Given the description of an element on the screen output the (x, y) to click on. 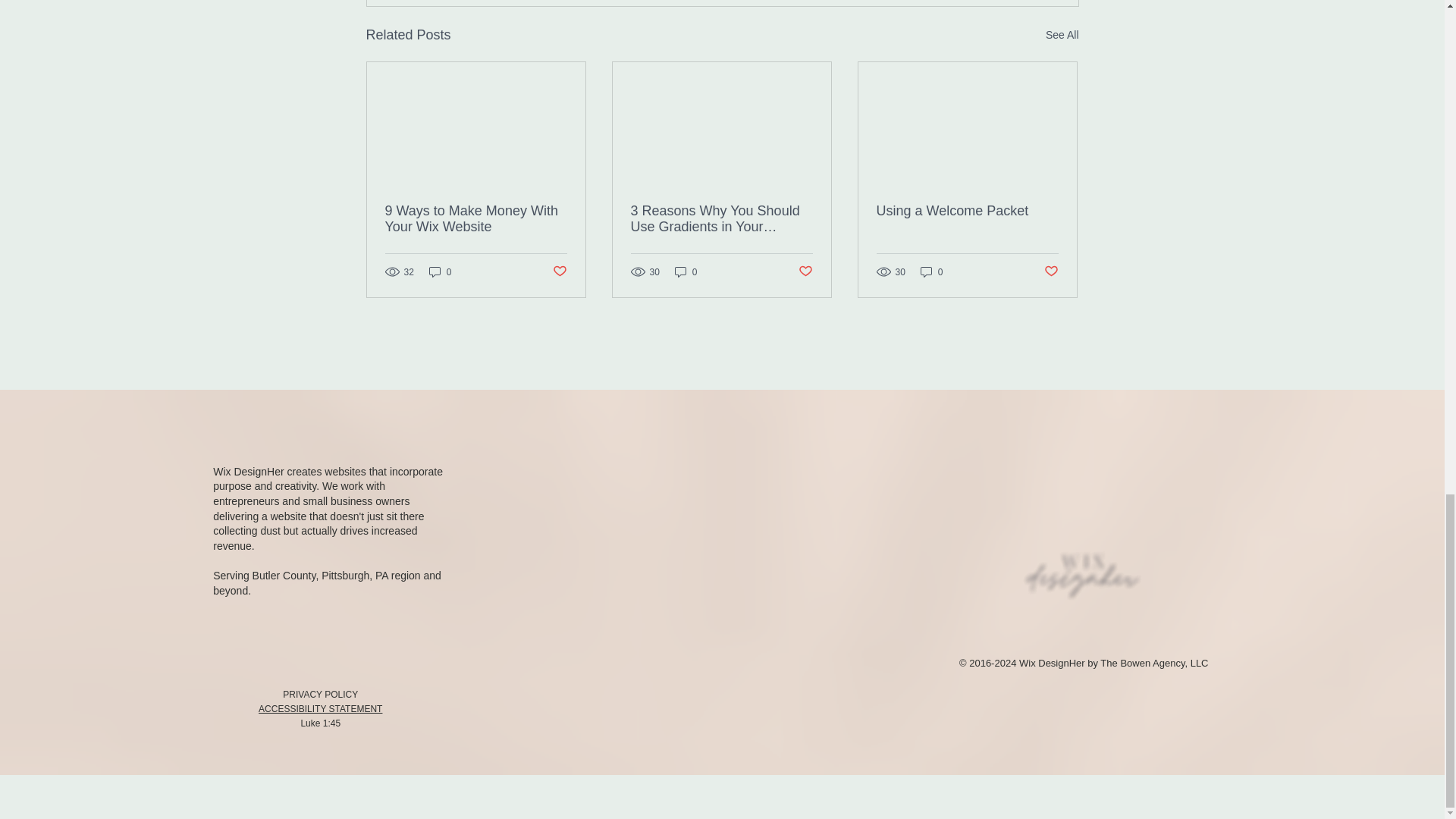
Post not marked as liked (558, 271)
3 Reasons Why You Should Use Gradients in Your Website (721, 219)
0 (440, 271)
See All (1061, 34)
9 Ways to Make Money With Your Wix Website (476, 219)
0 (685, 271)
